Given the description of an element on the screen output the (x, y) to click on. 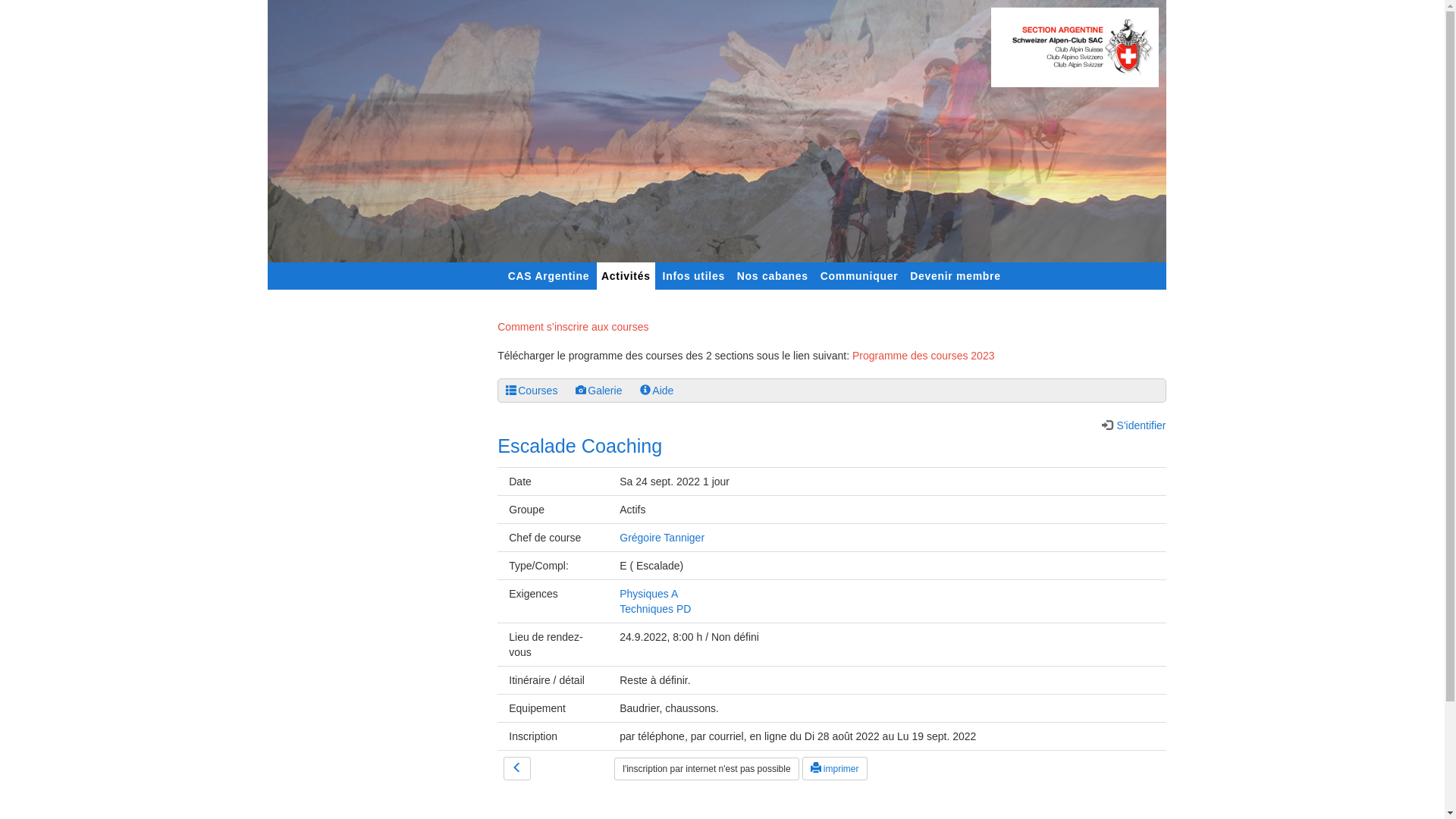
Devenir membre Element type: text (955, 275)
Nos cabanes Element type: text (772, 275)
Infos utiles Element type: text (693, 275)
Infos utiles Element type: text (693, 275)
imprimer Element type: text (834, 768)
CAS Argentine Element type: text (548, 275)
Courses Element type: text (531, 390)
S'identifier Element type: text (1133, 425)
Galerie Element type: text (598, 390)
Communiquer Element type: text (859, 275)
Communiquer Element type: text (859, 275)
Physiques A
Techniques PD Element type: text (654, 601)
Devenir membre Element type: text (955, 275)
Courses Element type: hover (510, 389)
Aide Element type: text (656, 390)
Nos cabanes Element type: text (772, 275)
CAS Argentine Element type: text (548, 275)
Programme des courses 202 Element type: text (920, 355)
